Given the description of an element on the screen output the (x, y) to click on. 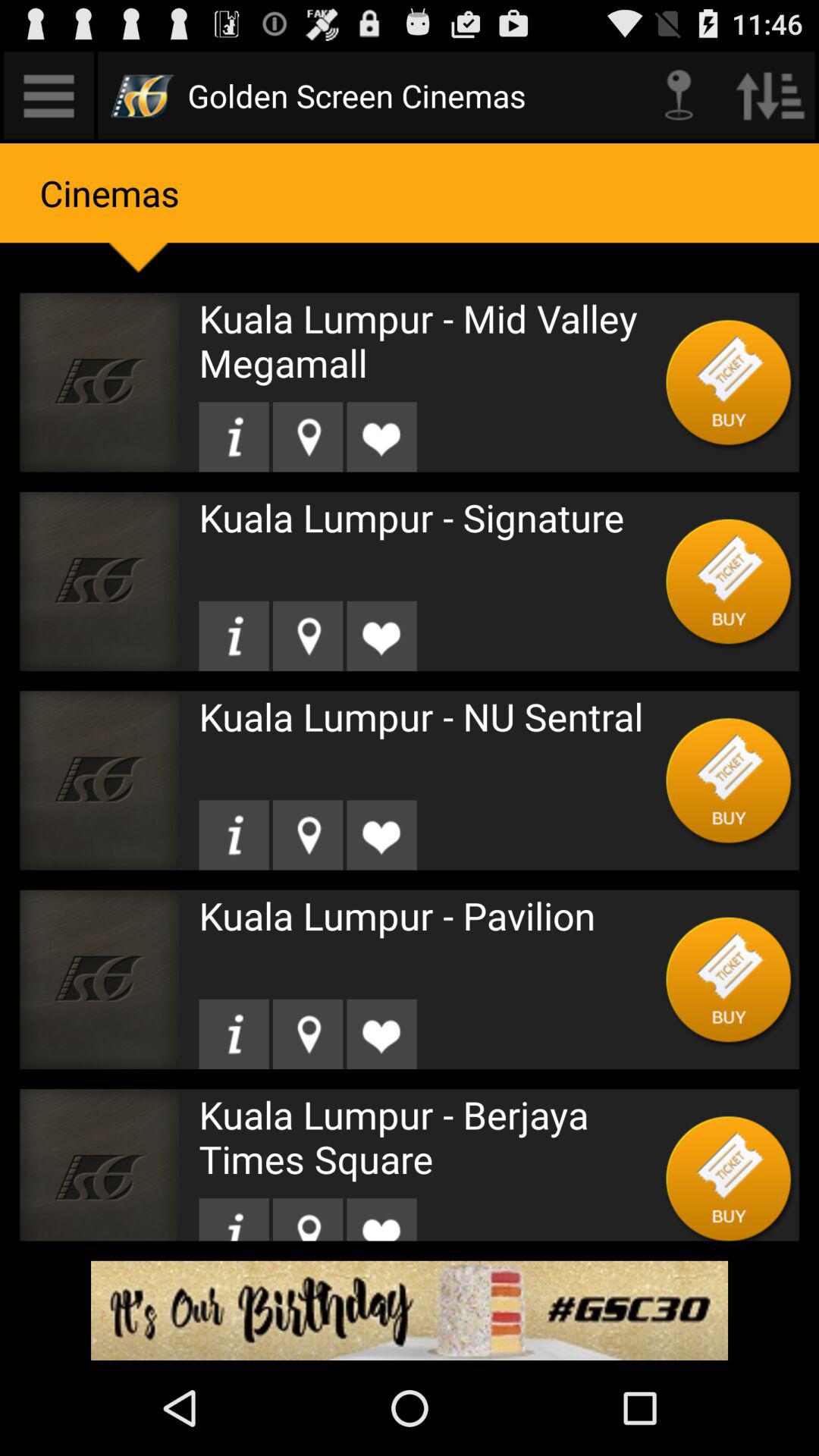
buy ticket (729, 581)
